Given the description of an element on the screen output the (x, y) to click on. 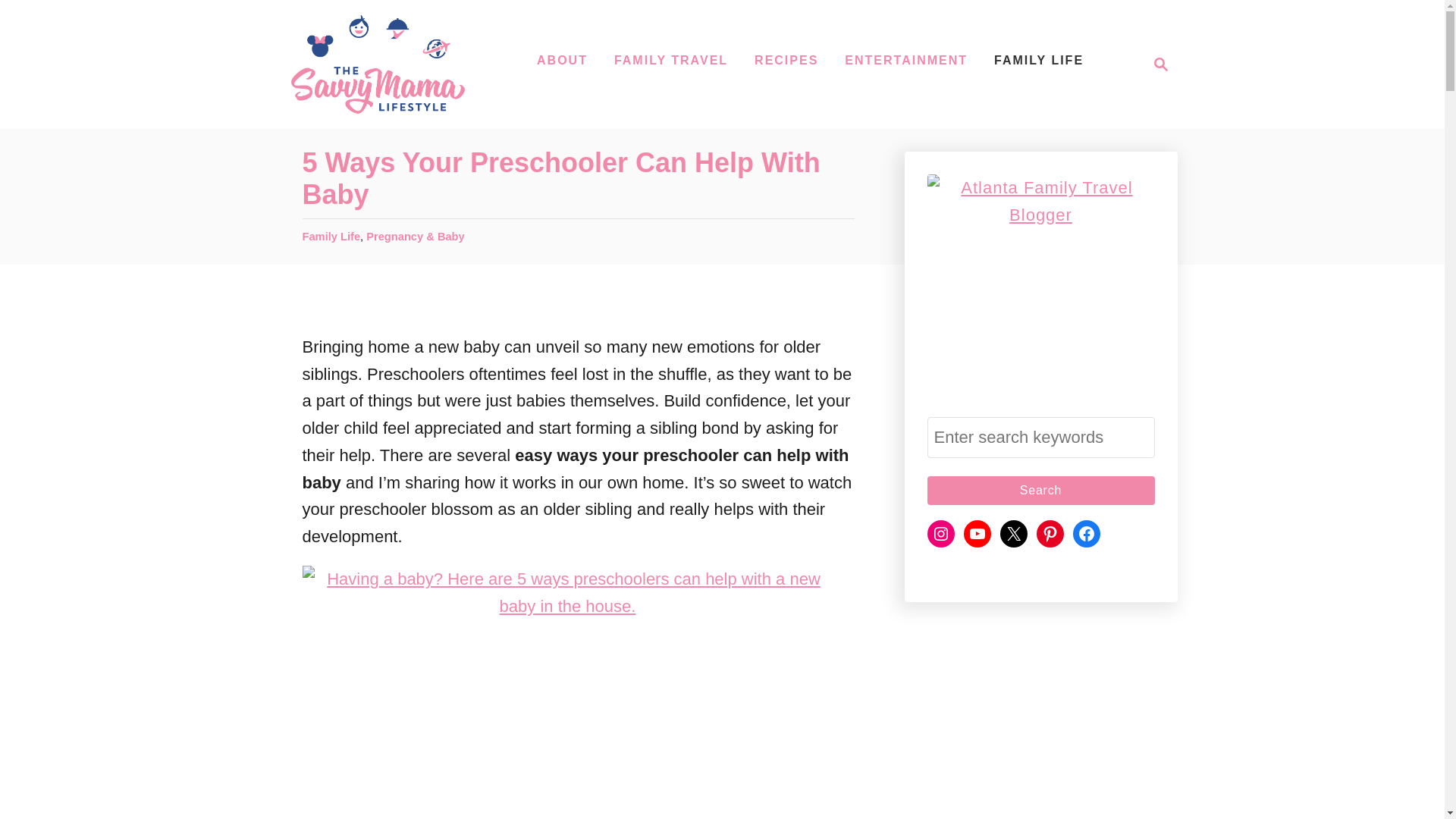
FAMILY LIFE (1038, 60)
ABOUT (562, 60)
Magnifying Glass (1155, 64)
Savvy Mama Lifestyle (1160, 64)
RECIPES (376, 64)
ENTERTAINMENT (785, 60)
FAMILY TRAVEL (906, 60)
Search (671, 60)
